Given the description of an element on the screen output the (x, y) to click on. 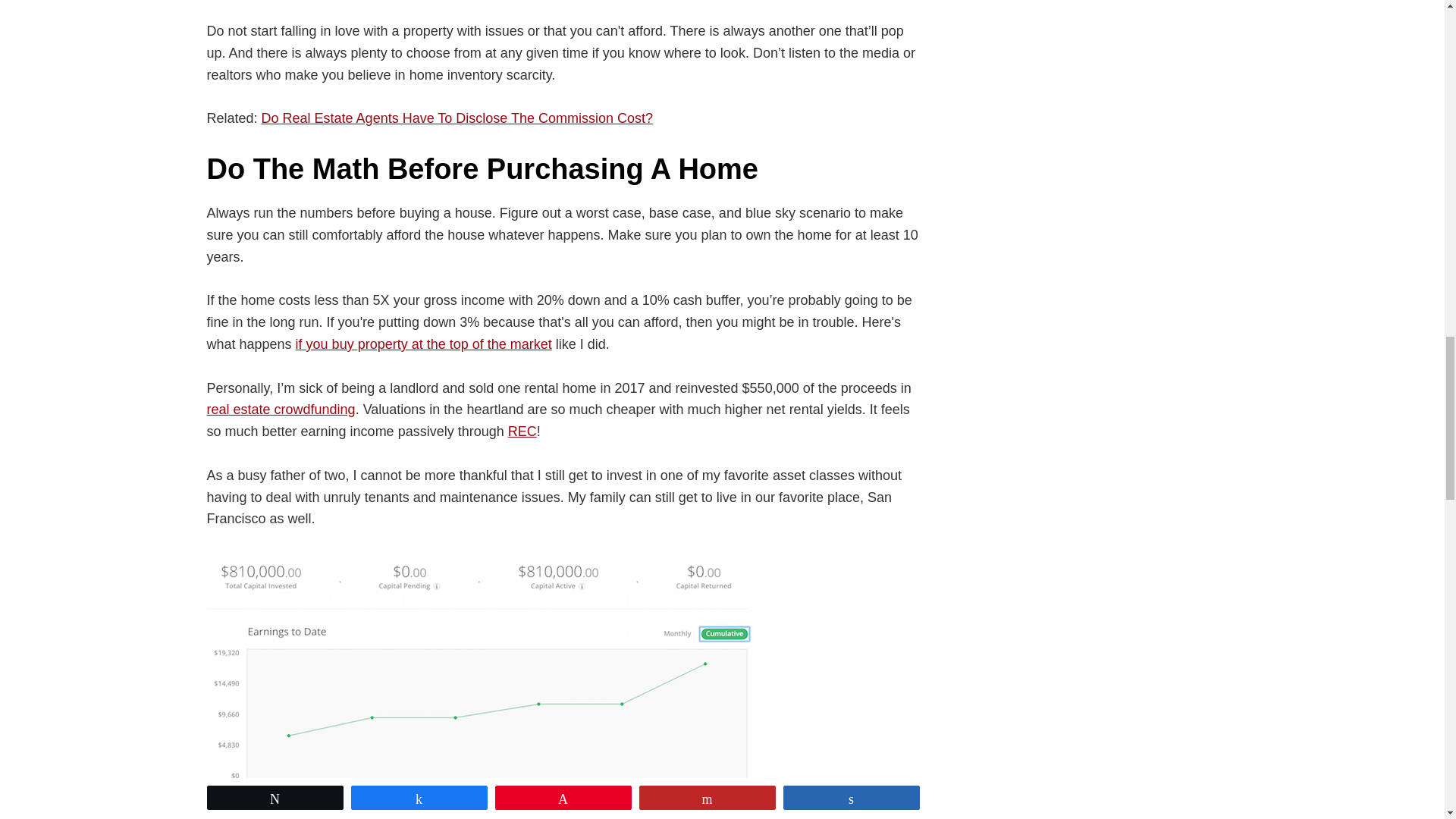
real estate crowdfunding (280, 409)
Do Real Estate Agents Have To Disclose The Commission Cost? (457, 118)
if you buy property at the top of the market (423, 344)
REC (522, 431)
